Given the description of an element on the screen output the (x, y) to click on. 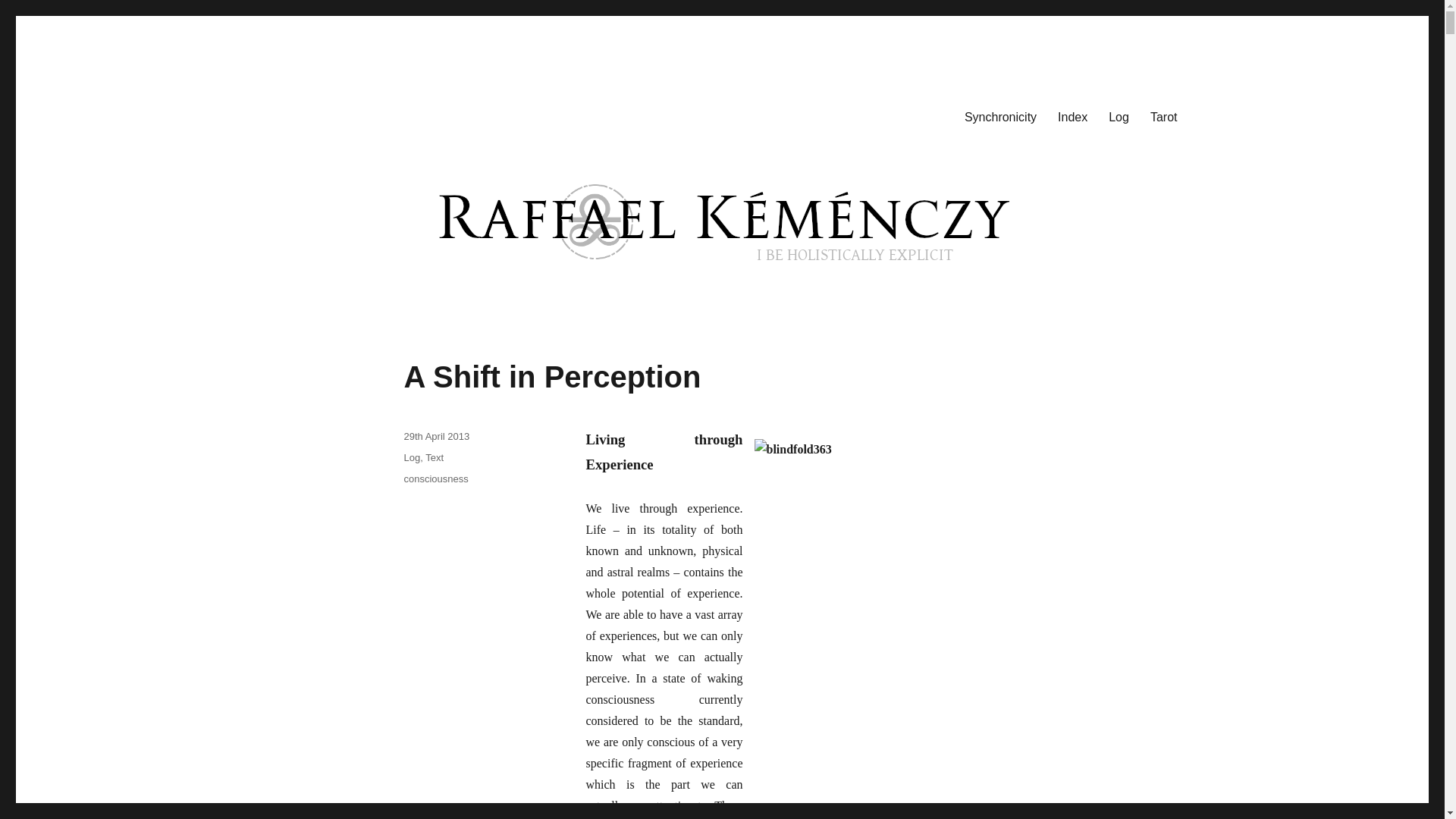
Index (1071, 116)
Raffael Kemenczy (357, 114)
A Shift in Perception (551, 376)
Log (1118, 116)
Synchronicity (999, 116)
Tarot (1164, 116)
